Given the description of an element on the screen output the (x, y) to click on. 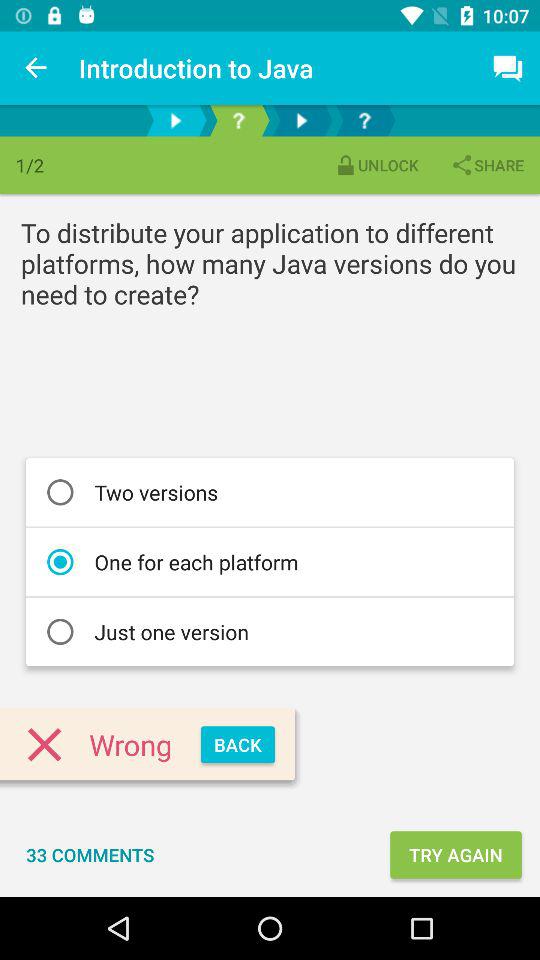
first breadcrumb (175, 120)
